Given the description of an element on the screen output the (x, y) to click on. 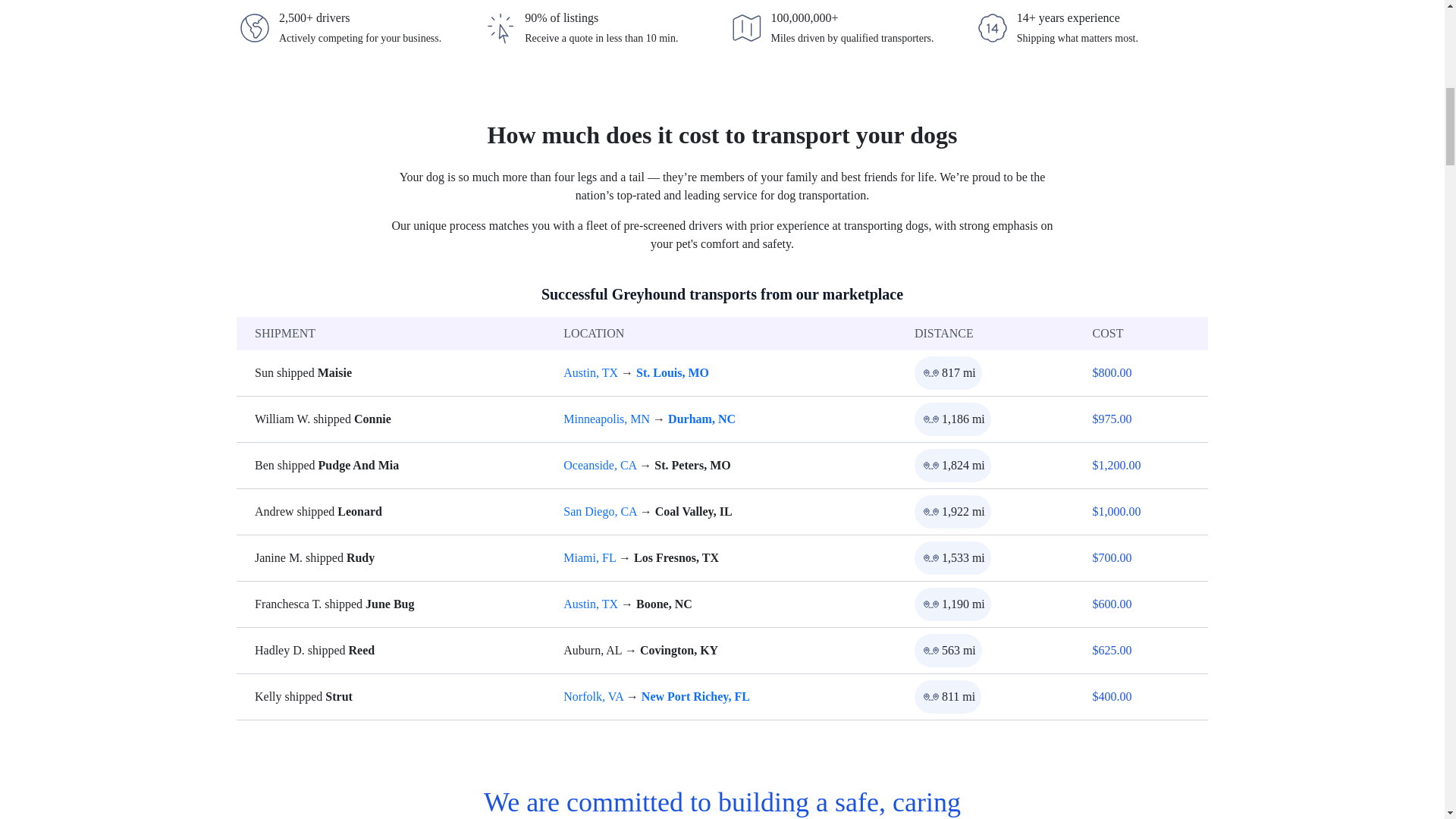
San Diego, CA (599, 511)
Austin, TX (590, 603)
Minneapolis, MN (606, 418)
St. Louis, MO (672, 372)
Durham, NC (701, 418)
Miami, FL (589, 557)
Austin, TX (590, 372)
Norfolk, VA (593, 696)
Oceanside, CA (599, 464)
New Port Richey, FL (695, 696)
